Given the description of an element on the screen output the (x, y) to click on. 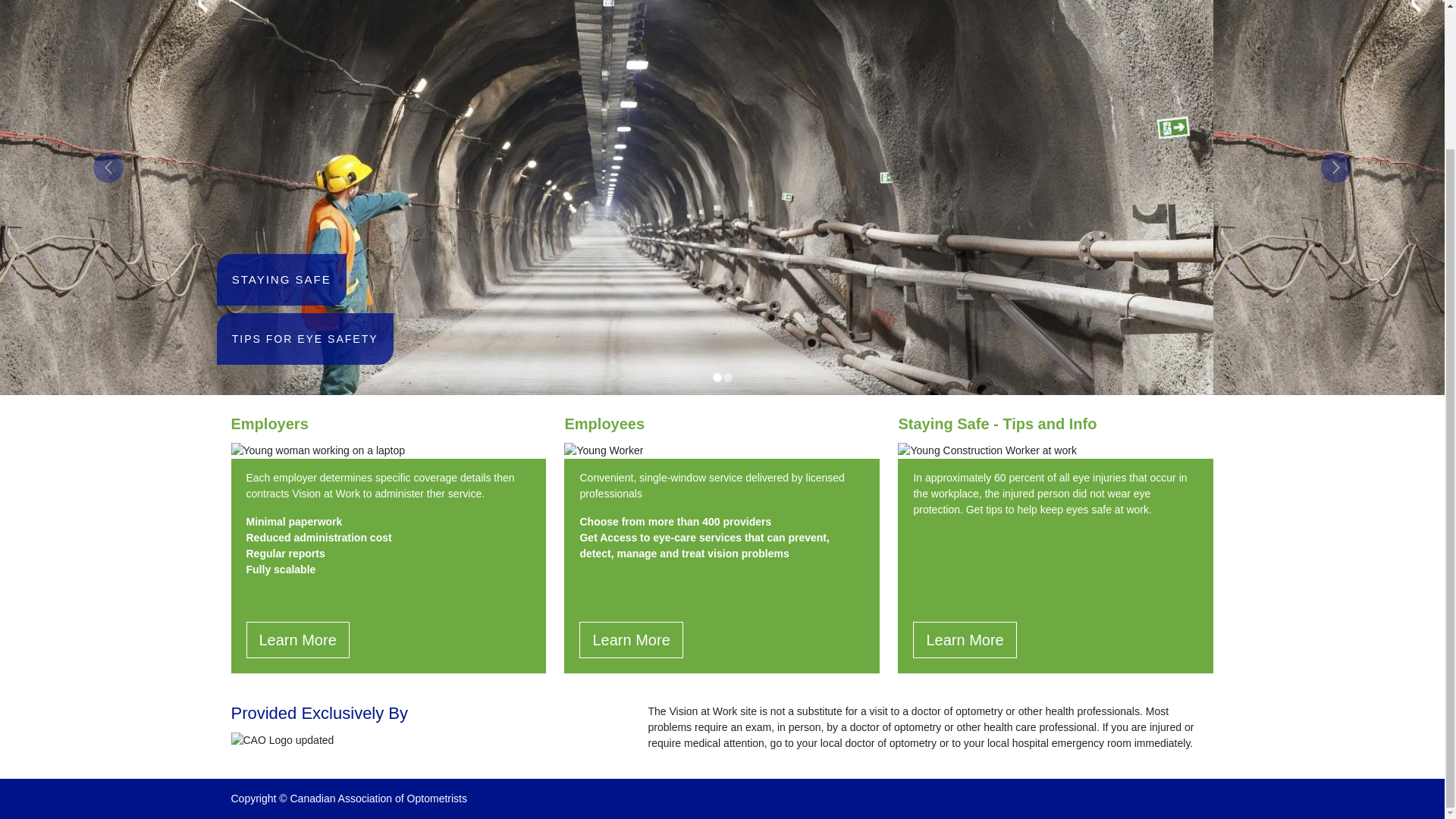
Learn More (964, 639)
TIPS FOR EYE SAFETY (304, 338)
Learn More (297, 639)
Staying Safe - Tips and Info (997, 423)
Employers (268, 423)
Learn More (630, 639)
Employees (604, 423)
